Given the description of an element on the screen output the (x, y) to click on. 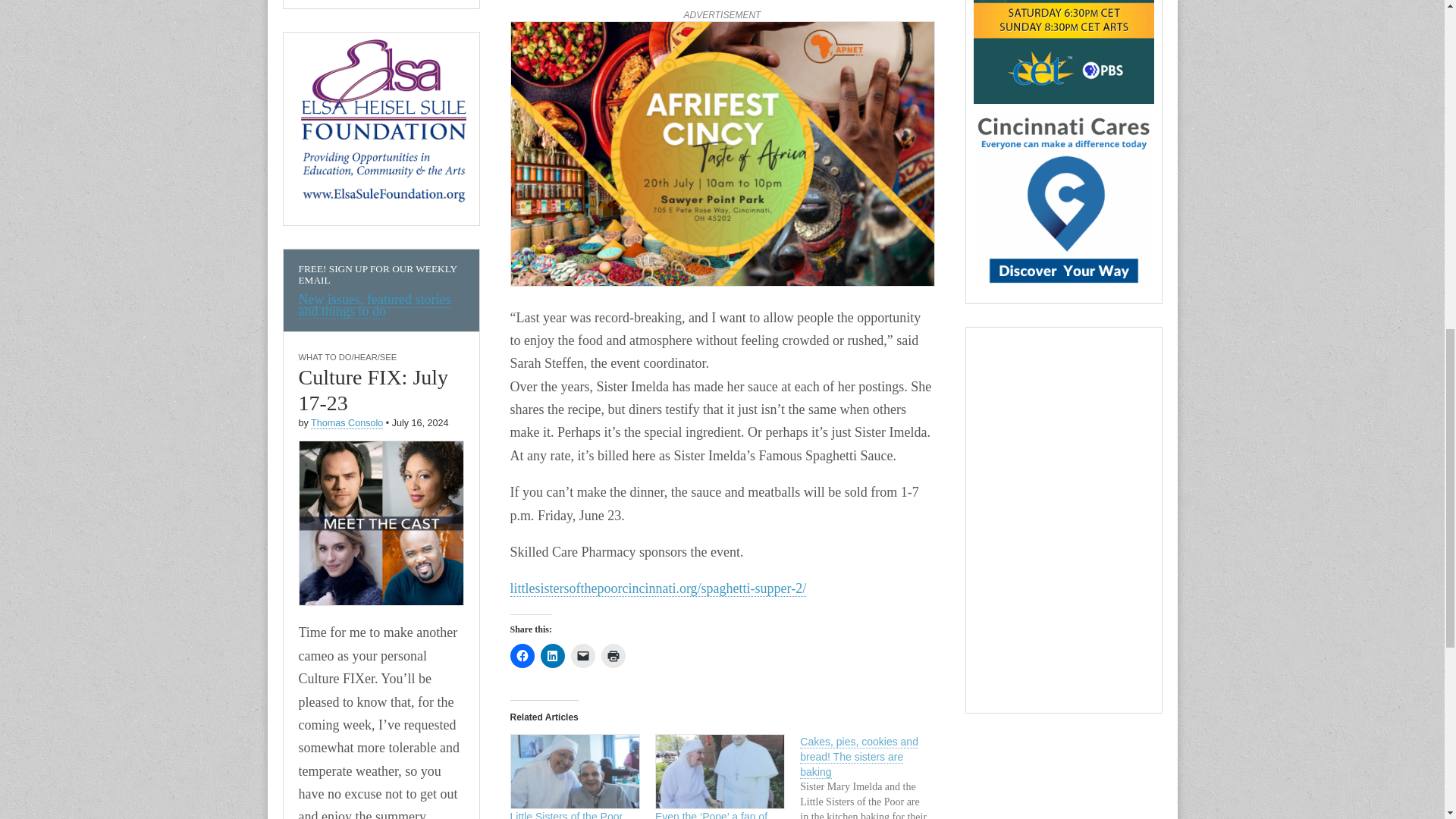
Click to print (611, 655)
Cakes, pies, cookies and bread! The sisters are baking (871, 776)
AfriFest 2024 (721, 156)
Little Sisters of the Poor serving up spaghetti supper (574, 771)
Click to email a link to a friend (582, 655)
Little Sisters of the Poor serving up spaghetti supper (566, 814)
Click to share on Facebook (521, 655)
Click to share on LinkedIn (552, 655)
